Given the description of an element on the screen output the (x, y) to click on. 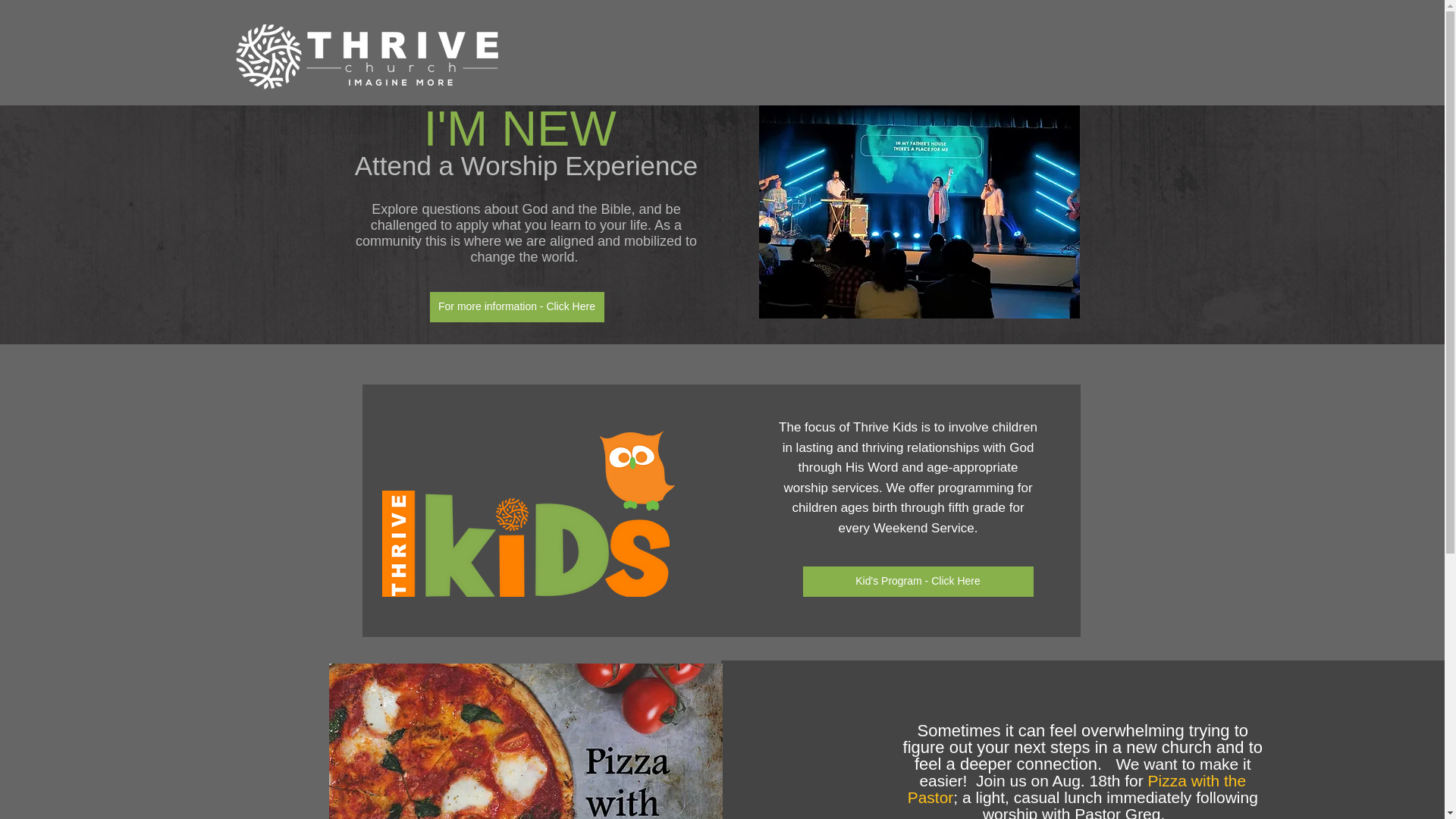
Kid's Program - Click Here (917, 581)
guitar close up (918, 211)
For more information - Click Here (516, 306)
